Given the description of an element on the screen output the (x, y) to click on. 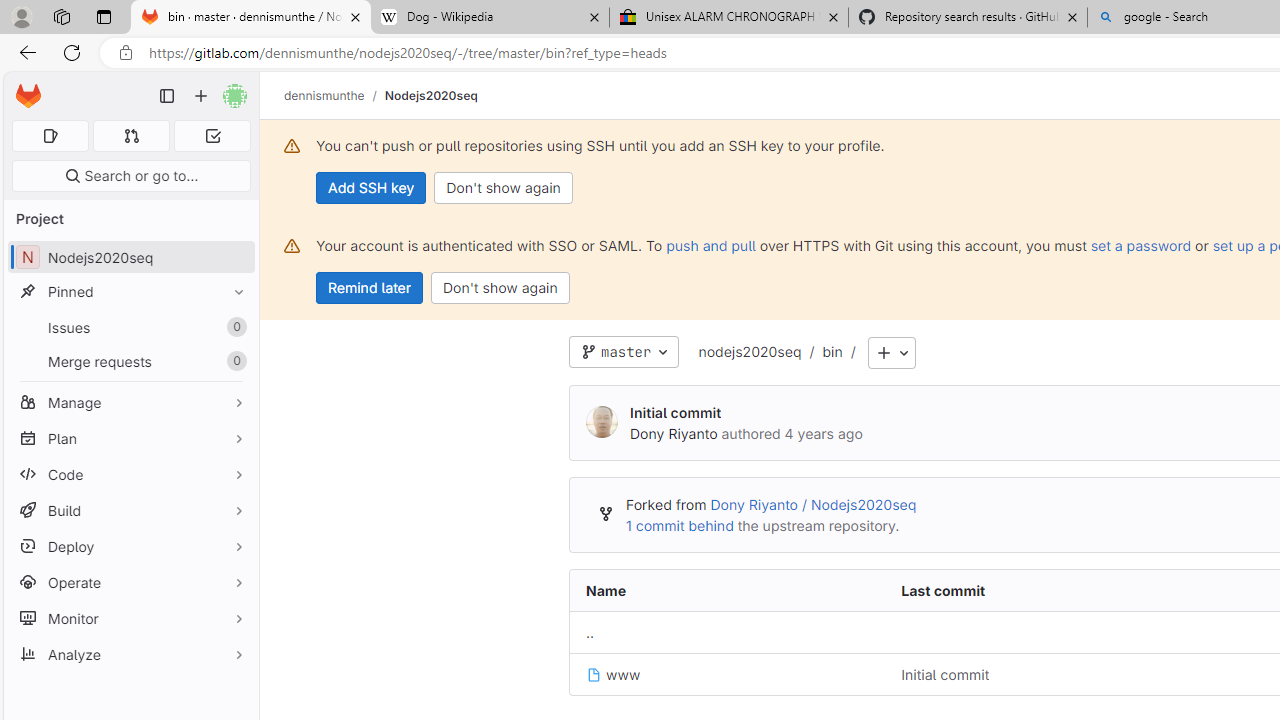
Merge requests0 (130, 361)
set a password (1140, 245)
Homepage (27, 96)
Unpin Merge requests (234, 361)
Nodejs2020seq (430, 95)
Create new... (201, 96)
nodejs2020seq (749, 353)
push and pull (710, 245)
www (613, 674)
Analyze (130, 654)
Operate (130, 582)
Plan (130, 438)
